Given the description of an element on the screen output the (x, y) to click on. 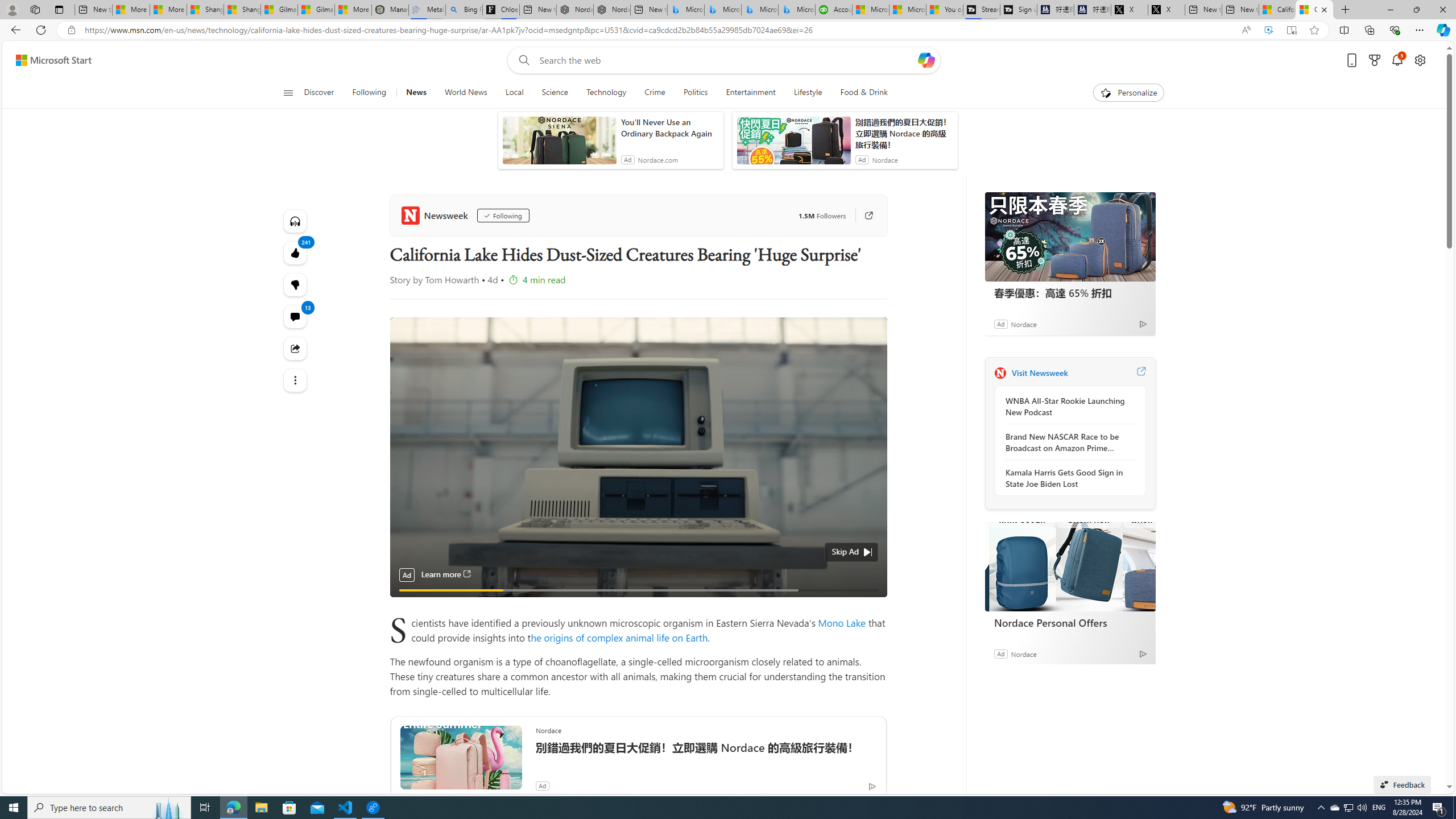
Listen to this article (295, 220)
More like this241Fewer like thisView comments (295, 284)
Kamala Harris Gets Good Sign in State Joe Biden Lost (1066, 477)
